Given the description of an element on the screen output the (x, y) to click on. 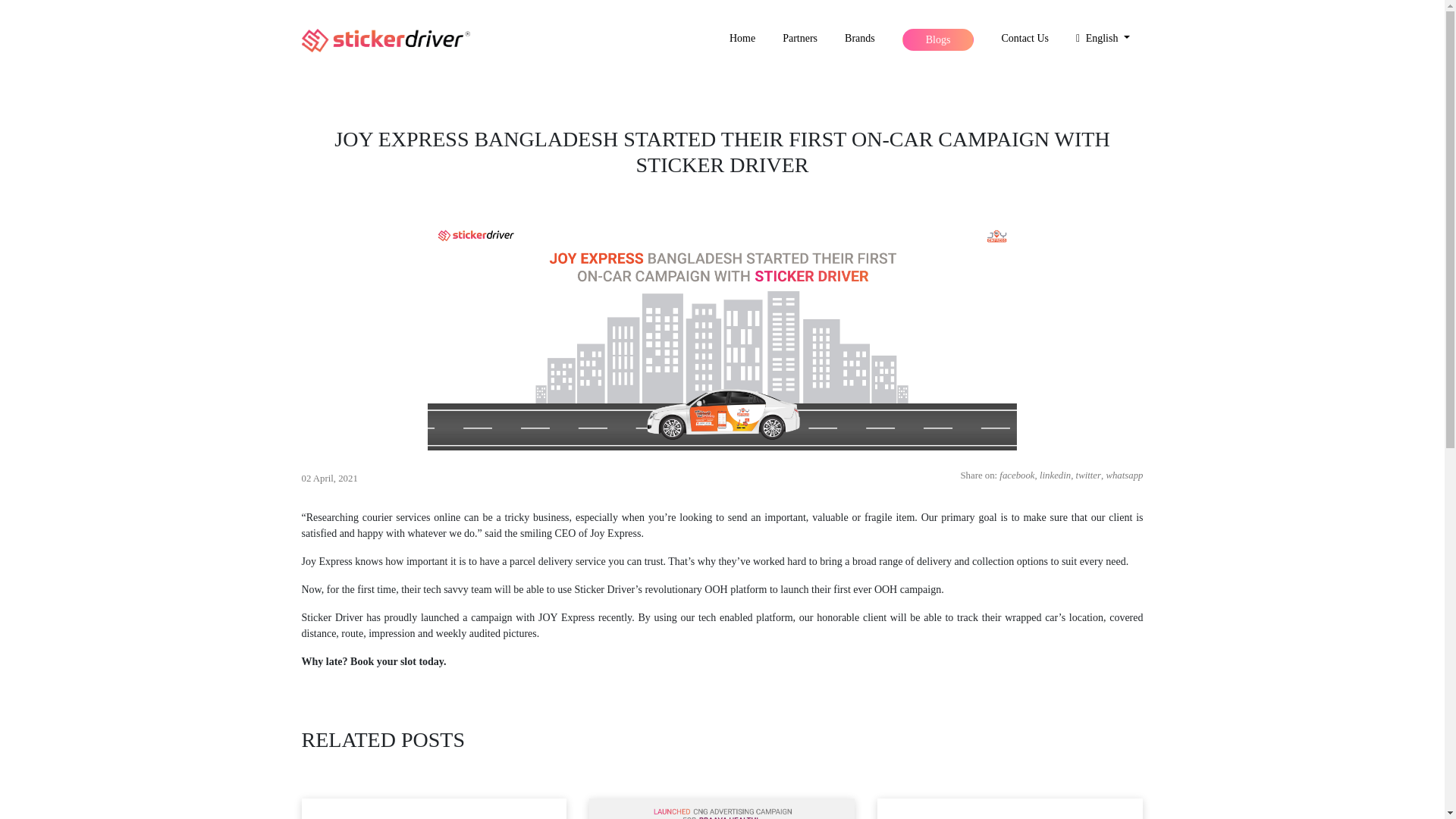
twitter (1087, 475)
Brands (859, 38)
Blogs (938, 39)
Home (742, 38)
whatsapp (1123, 475)
Partners (799, 38)
linkedin (1054, 475)
LAUNCHED CNG ADVERTISING CAMPAIGN FOR PRAAVA HEALTH (721, 808)
